Given the description of an element on the screen output the (x, y) to click on. 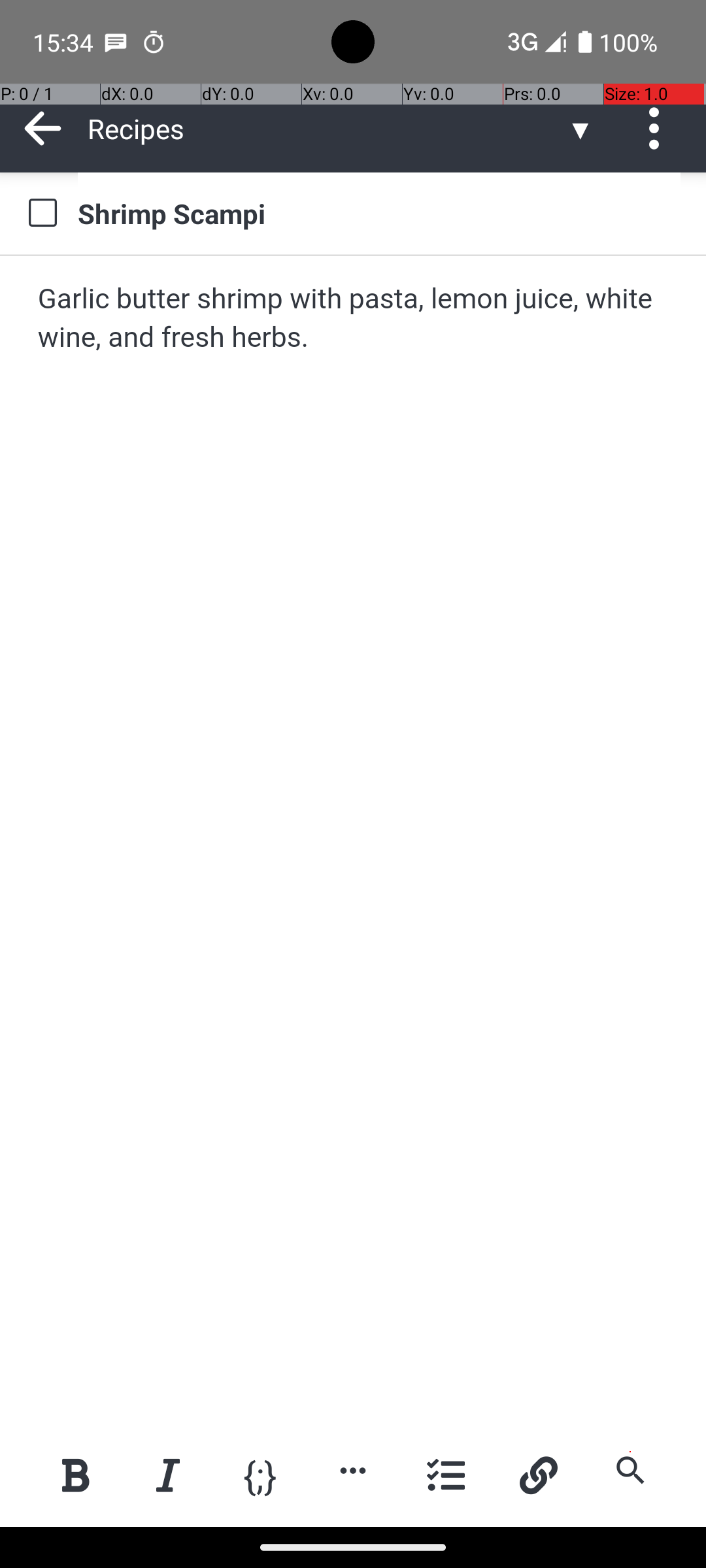
Shrimp Scampi Element type: android.widget.EditText (378, 213)
Garlic butter shrimp with pasta, lemon juice, white wine, and fresh herbs. Element type: android.widget.EditText (354, 318)
